Given the description of an element on the screen output the (x, y) to click on. 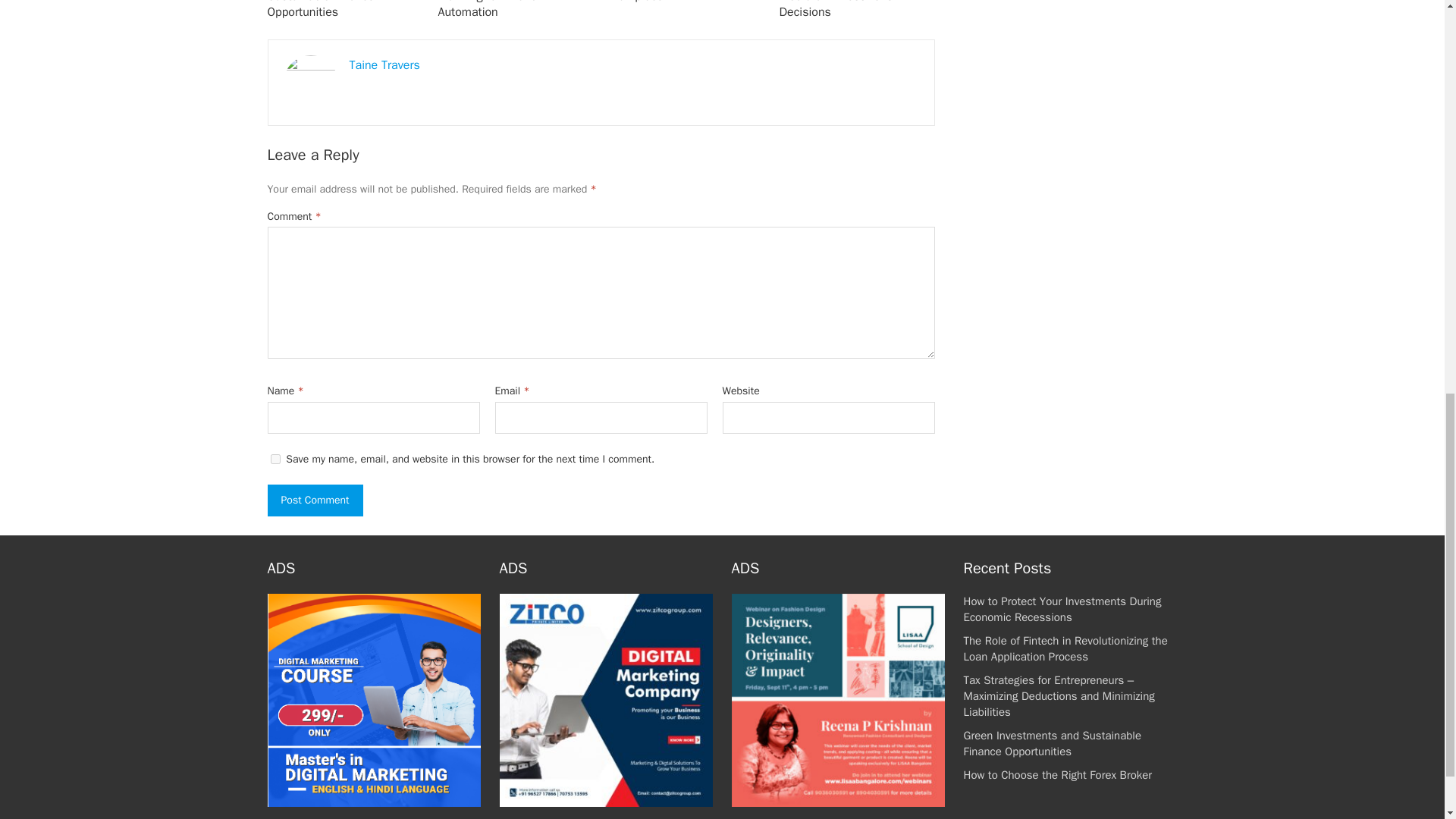
Post Comment (314, 500)
yes (274, 459)
How to Choose the Right Forex Broker (1056, 775)
How to Protect Your Investments During Economic Recessions (1061, 609)
Post Comment (314, 500)
Financial Education in the Workplace (676, 2)
Green Investments and Sustainable Finance Opportunities (328, 10)
The Future of Work: Financial Planning for AI and Automation (515, 10)
Taine Travers (384, 64)
The Influence of Social Media on Investment Decisions (838, 10)
Green Investments and Sustainable Finance Opportunities (1051, 743)
